Given the description of an element on the screen output the (x, y) to click on. 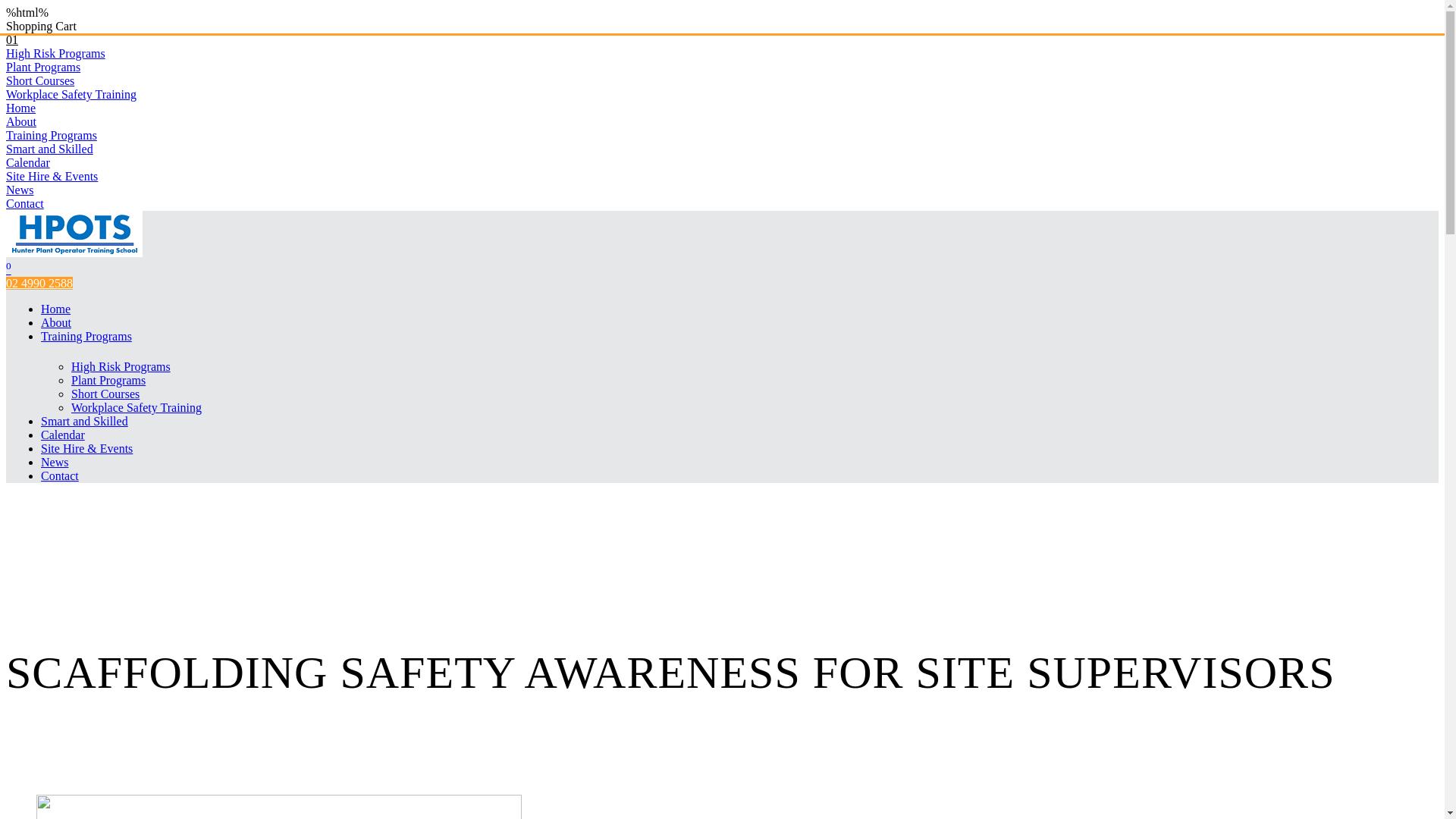
Training Programs Element type: text (85, 335)
Short Courses Element type: text (105, 393)
02 4990 2588 Element type: text (39, 282)
Site Hire & Events Element type: text (51, 175)
About Element type: text (55, 322)
Contact Element type: text (24, 203)
News Element type: text (19, 189)
High Risk Programs Element type: text (120, 366)
Workplace Safety Training Element type: text (136, 407)
Smart and Skilled Element type: text (49, 148)
Calendar Element type: text (62, 434)
0 Element type: text (8, 269)
Training Programs Element type: text (51, 134)
Home Element type: text (55, 308)
Plant Programs Element type: text (43, 66)
Contact Element type: text (59, 475)
Home Element type: text (20, 107)
HPOTS Element type: hover (74, 252)
Calendar Element type: text (28, 162)
Smart and Skilled Element type: text (84, 420)
High Risk Programs Element type: text (55, 53)
About Element type: text (21, 121)
Short Courses Element type: text (40, 80)
Plant Programs Element type: text (108, 379)
Site Hire & Events Element type: text (86, 448)
Workplace Safety Training Element type: text (71, 93)
News Element type: text (54, 461)
